Given the description of an element on the screen output the (x, y) to click on. 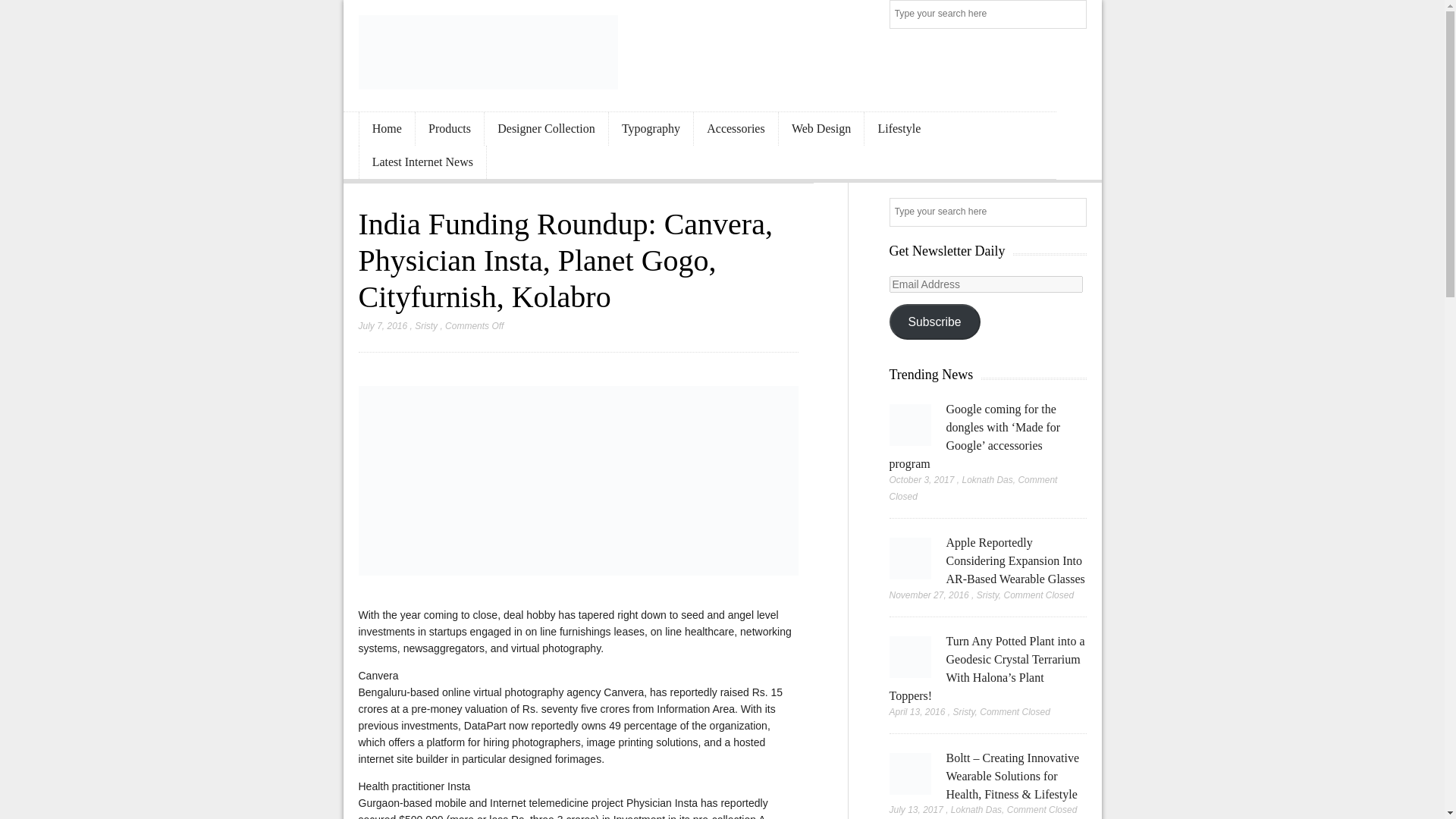
Search (1073, 15)
Lifestyle (898, 129)
Accessories (735, 129)
Products (448, 129)
Web Design (821, 129)
Designer Collection (546, 129)
Posts by Sristy (426, 326)
Home (386, 129)
Typography (650, 129)
Sristy (426, 326)
